Given the description of an element on the screen output the (x, y) to click on. 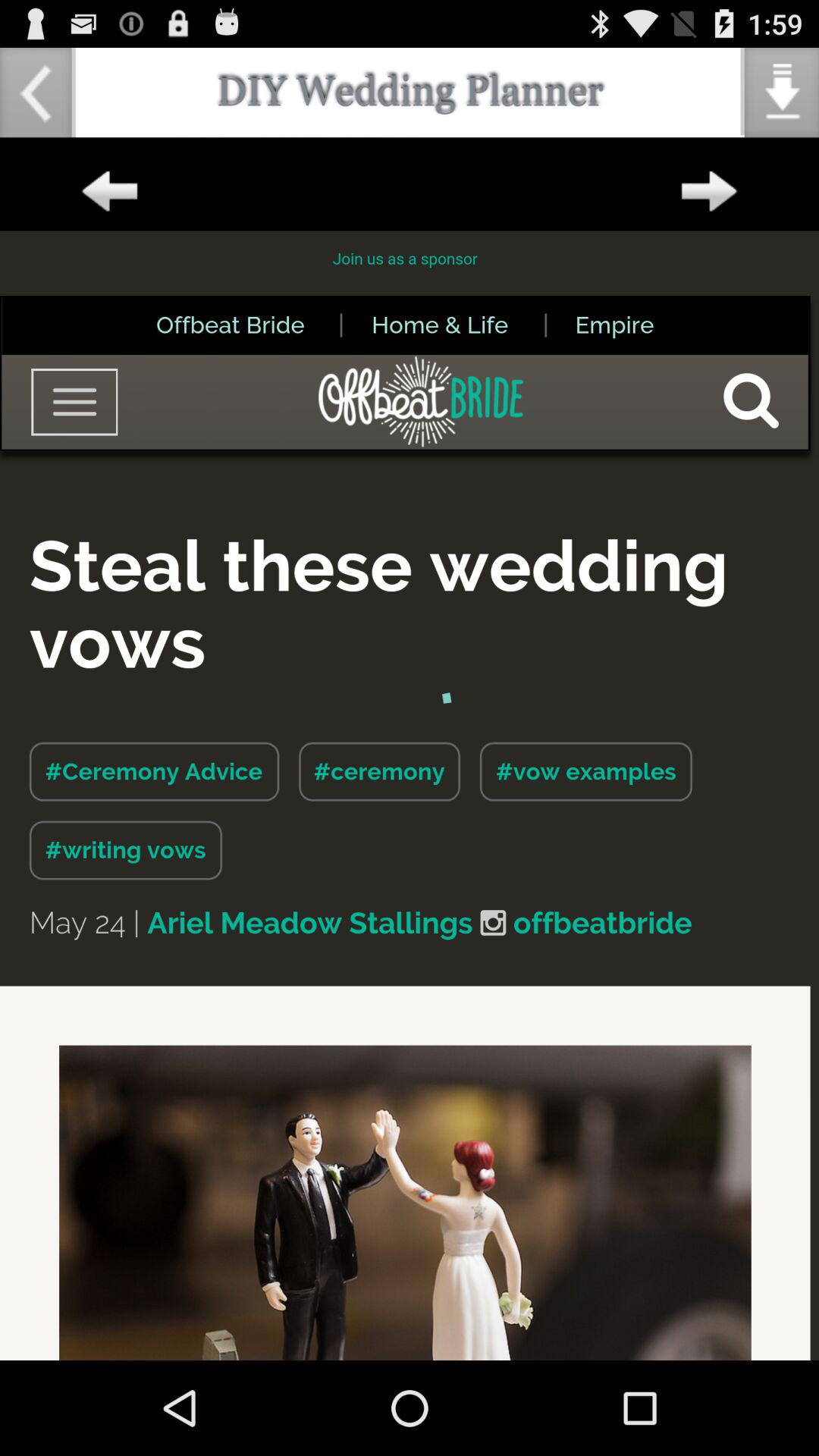
go back (109, 192)
